Given the description of an element on the screen output the (x, y) to click on. 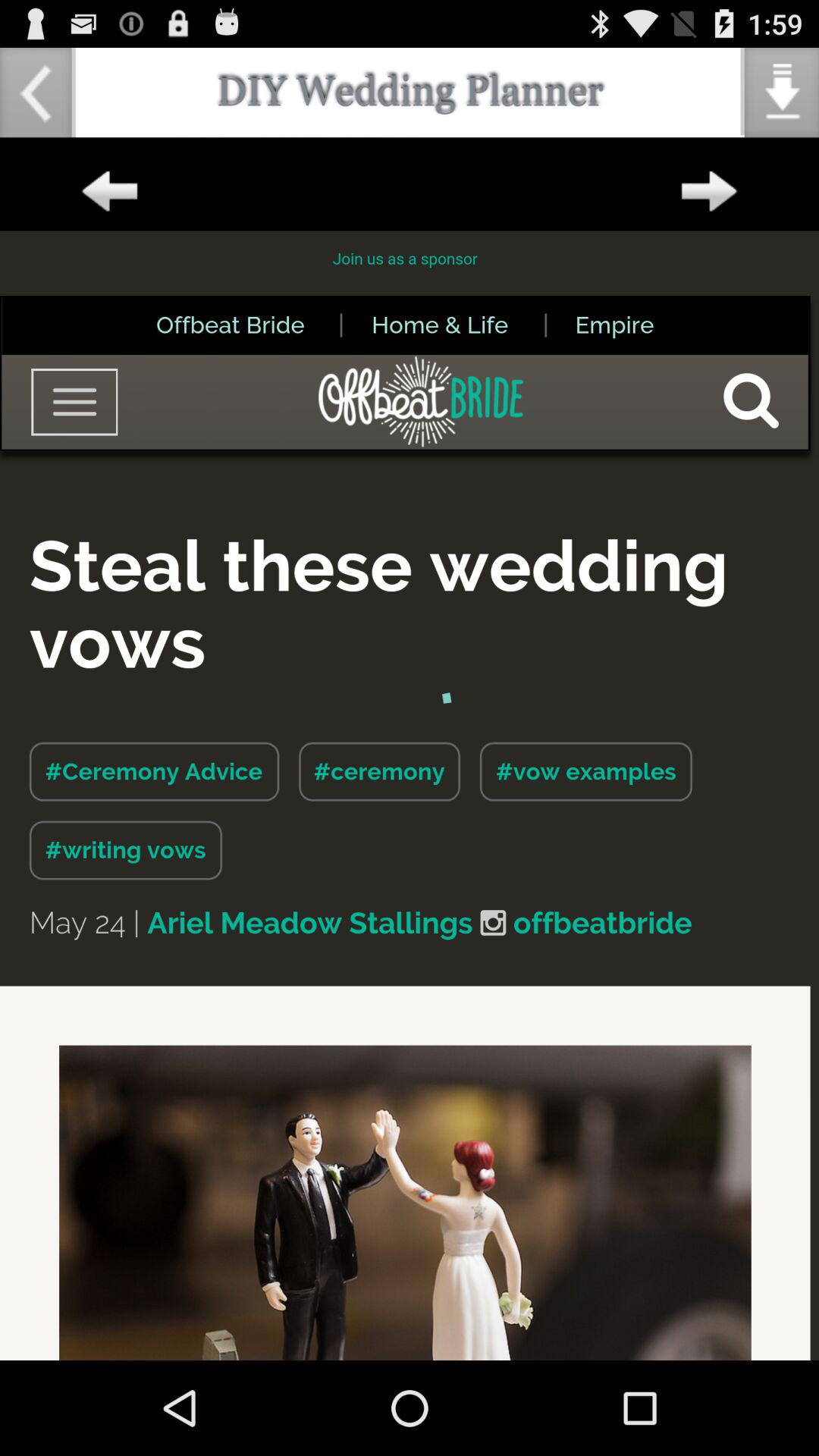
go back (109, 192)
